Given the description of an element on the screen output the (x, y) to click on. 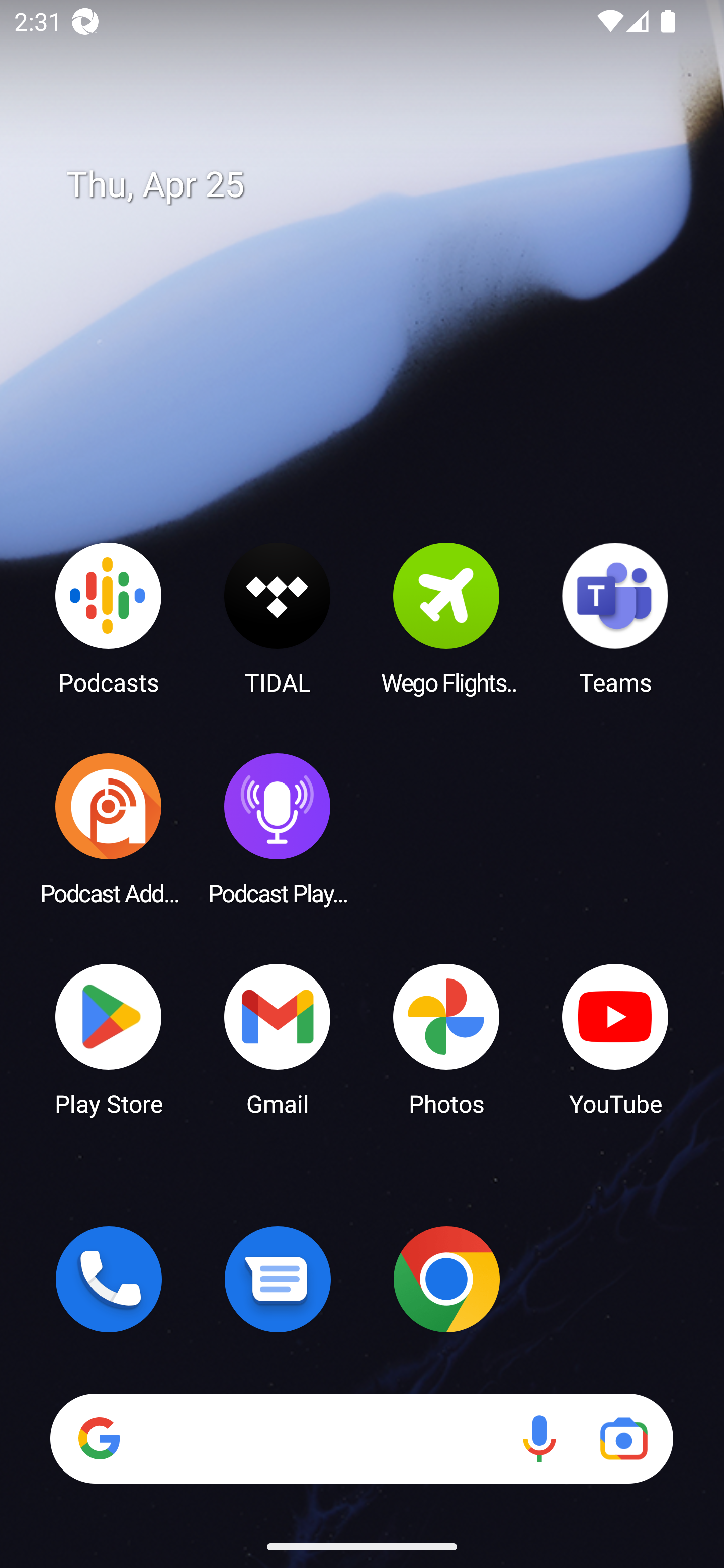
Thu, Apr 25 (375, 184)
Podcasts (108, 617)
TIDAL (277, 617)
Wego Flights & Hotels (445, 617)
Teams (615, 617)
Podcast Addict (108, 828)
Podcast Player (277, 828)
Play Store (108, 1038)
Gmail (277, 1038)
Photos (445, 1038)
YouTube (615, 1038)
Phone (108, 1279)
Messages (277, 1279)
Chrome (446, 1279)
Search Voice search Google Lens (361, 1438)
Voice search (539, 1438)
Google Lens (623, 1438)
